Given the description of an element on the screen output the (x, y) to click on. 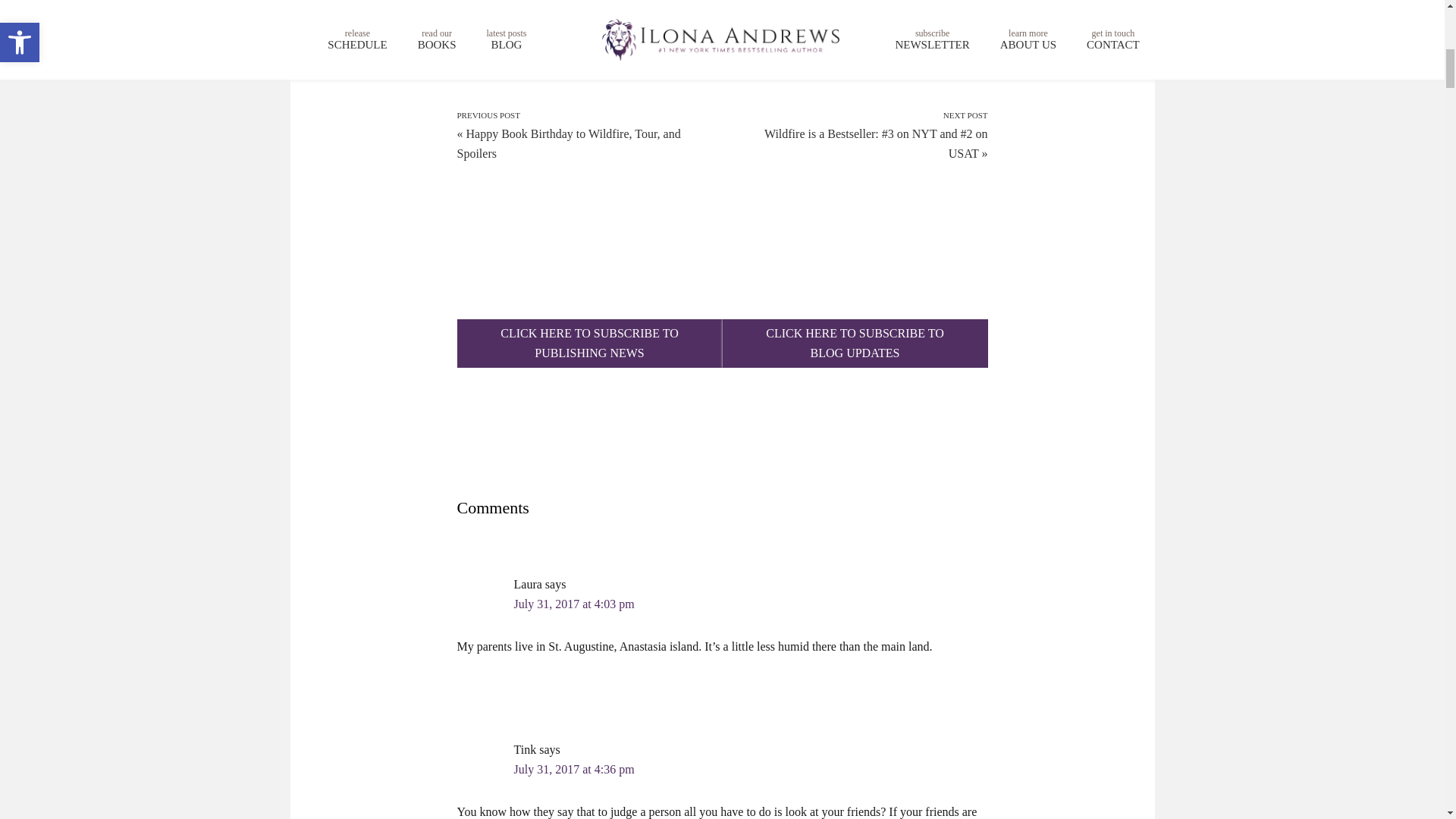
July 31, 2017 at 4:03 pm (854, 343)
July 31, 2017 at 4:36 pm (573, 603)
Privacy Policy (573, 768)
